Given the description of an element on the screen output the (x, y) to click on. 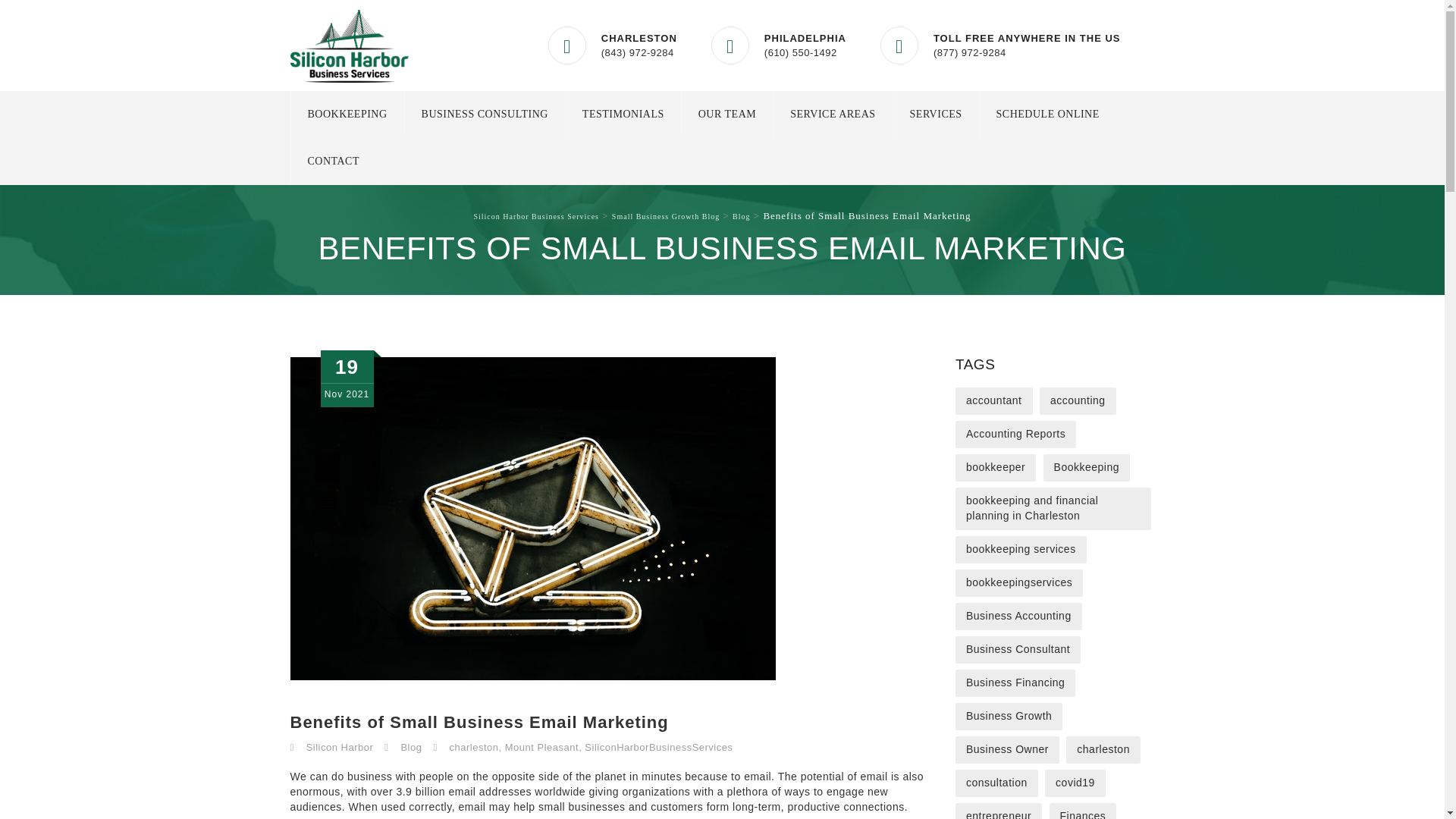
OUR TEAM (727, 114)
BOOKKEEPING (347, 114)
Silicon Harbor Business Services (348, 45)
Go to Small Business Growth Blog. (665, 216)
SERVICES (935, 114)
Go to Silicon Harbor Business Services. (535, 216)
Go to the Blog Category archives. (740, 216)
SERVICE AREAS (832, 114)
